Given the description of an element on the screen output the (x, y) to click on. 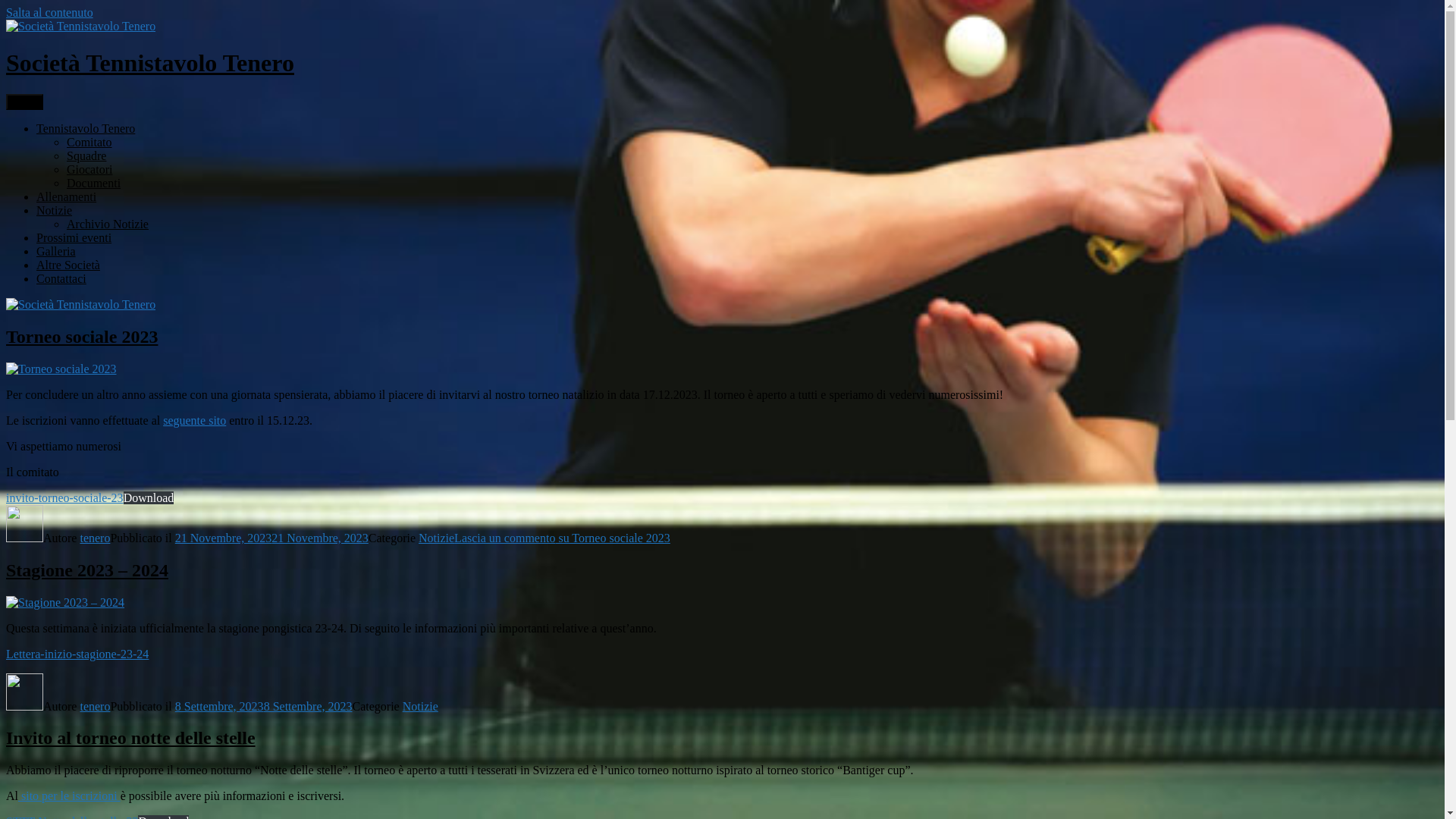
Archivio Notizie Element type: text (107, 223)
Salta al contenuto Element type: text (49, 12)
Giocatori Element type: text (89, 169)
Torneo sociale 2023 Element type: text (81, 336)
Notizie Element type: text (436, 537)
Lascia un commento su Torneo sociale 2023 Element type: text (562, 537)
Comitato Element type: text (89, 141)
invito-torneo-sociale-23 Element type: text (64, 497)
Invito al torneo notte delle stelle Element type: text (130, 737)
Allenamenti Element type: text (66, 196)
Prossimi eventi Element type: text (73, 237)
Contattaci Element type: text (61, 278)
seguente sito Element type: text (194, 420)
Galleria Element type: text (55, 250)
Documenti Element type: text (93, 182)
Squadre Element type: text (86, 155)
tenero Element type: text (94, 537)
Lettera-inizio-stagione-23-24 Element type: text (77, 653)
8 Settembre, 20238 Settembre, 2023 Element type: text (263, 705)
sito per le iscrizioni Element type: text (69, 795)
Menu Element type: text (24, 101)
Tennistavolo Tenero Element type: text (85, 128)
Notizie Element type: text (54, 209)
Download Element type: text (148, 497)
tenero Element type: text (94, 705)
Notizie Element type: text (420, 705)
21 Novembre, 202321 Novembre, 2023 Element type: text (271, 537)
